Given the description of an element on the screen output the (x, y) to click on. 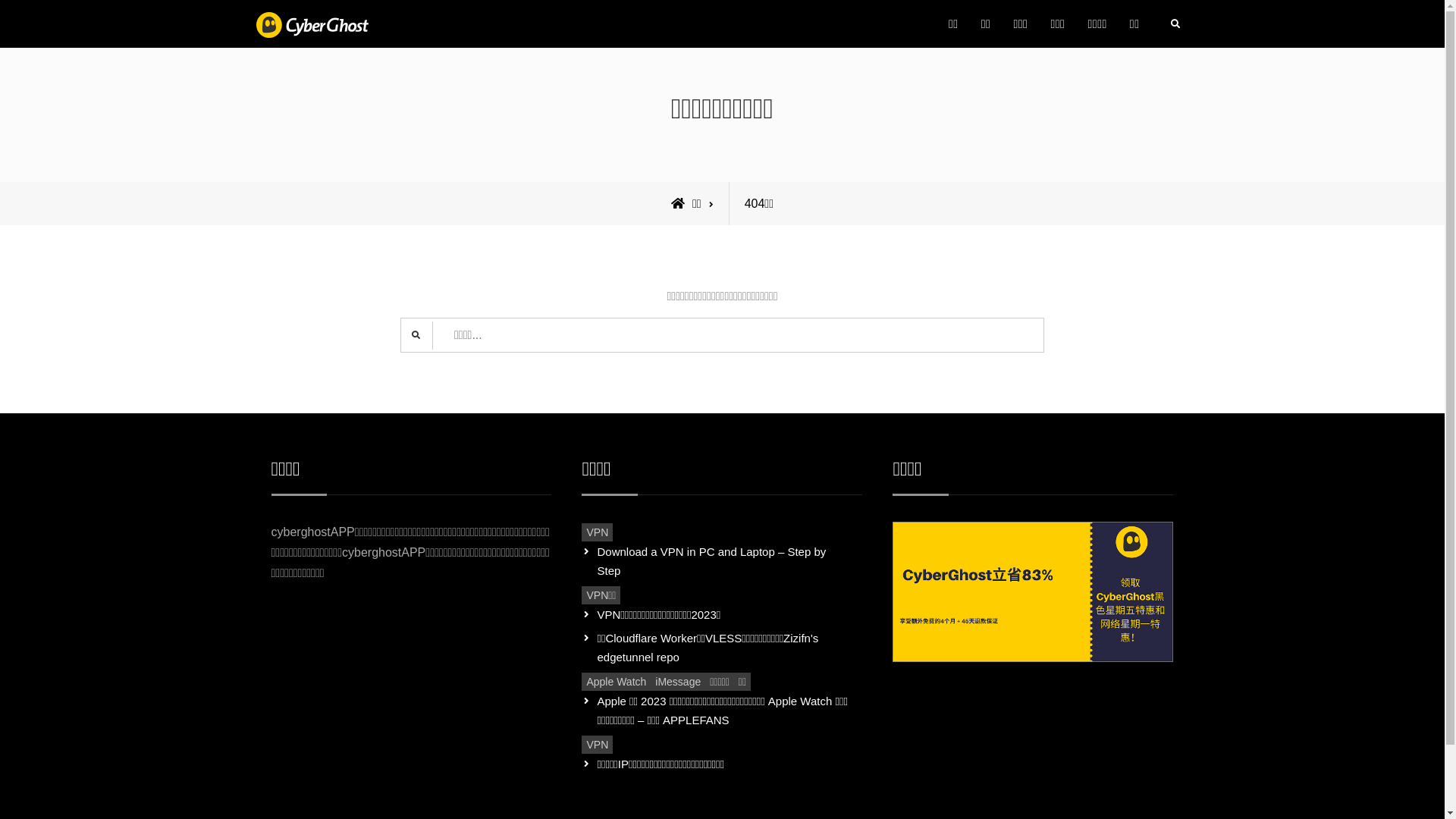
VPN Element type: text (596, 744)
Apple Watch Element type: text (615, 681)
cyberghostAPP Element type: text (453, 38)
iMessage Element type: text (677, 681)
Search Element type: text (1174, 23)
VPN Element type: text (596, 532)
